Given the description of an element on the screen output the (x, y) to click on. 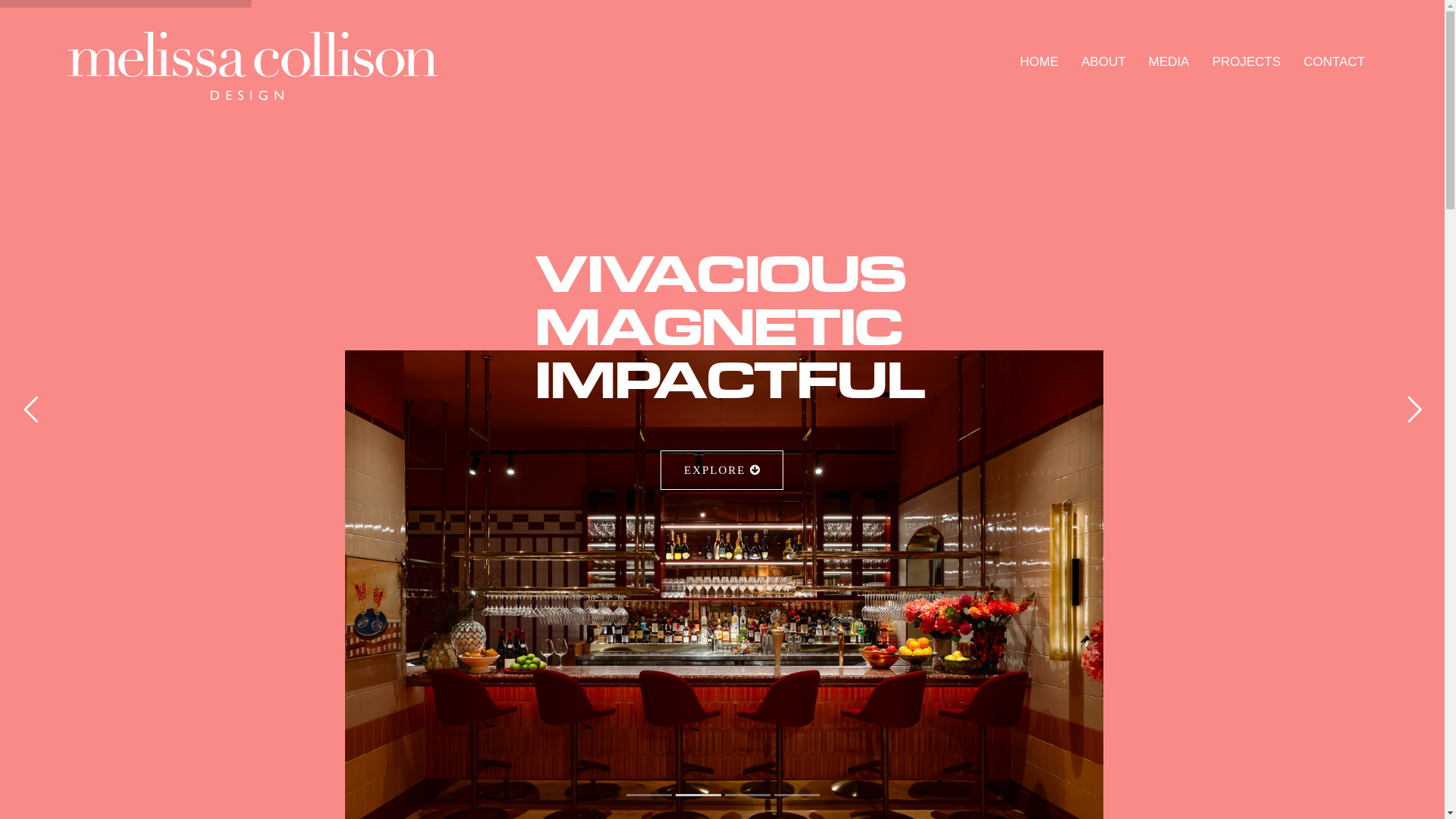
Normalnobg2 Element type: hover (253, 65)
HOME Element type: text (1039, 61)
MEDIA Element type: text (1169, 61)
PROJECTS Element type: text (1246, 61)
ABOUT Element type: text (1103, 61)
CONTACT Element type: text (1334, 61)
